Given the description of an element on the screen output the (x, y) to click on. 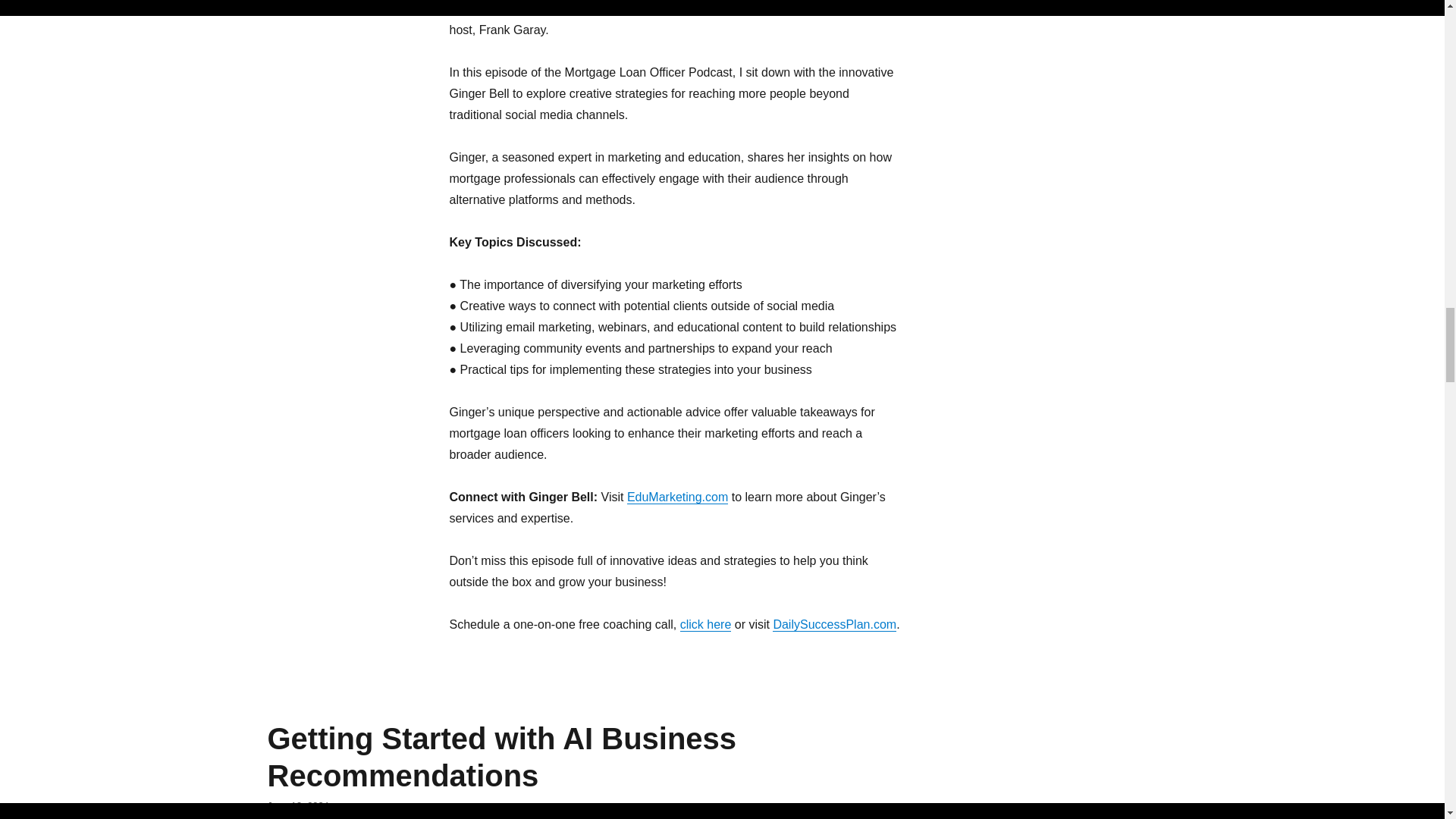
click here (705, 624)
DailySuccessPlan.com (834, 624)
EduMarketing.com (677, 496)
Getting Started with AI Business Recommendations (501, 756)
